Given the description of an element on the screen output the (x, y) to click on. 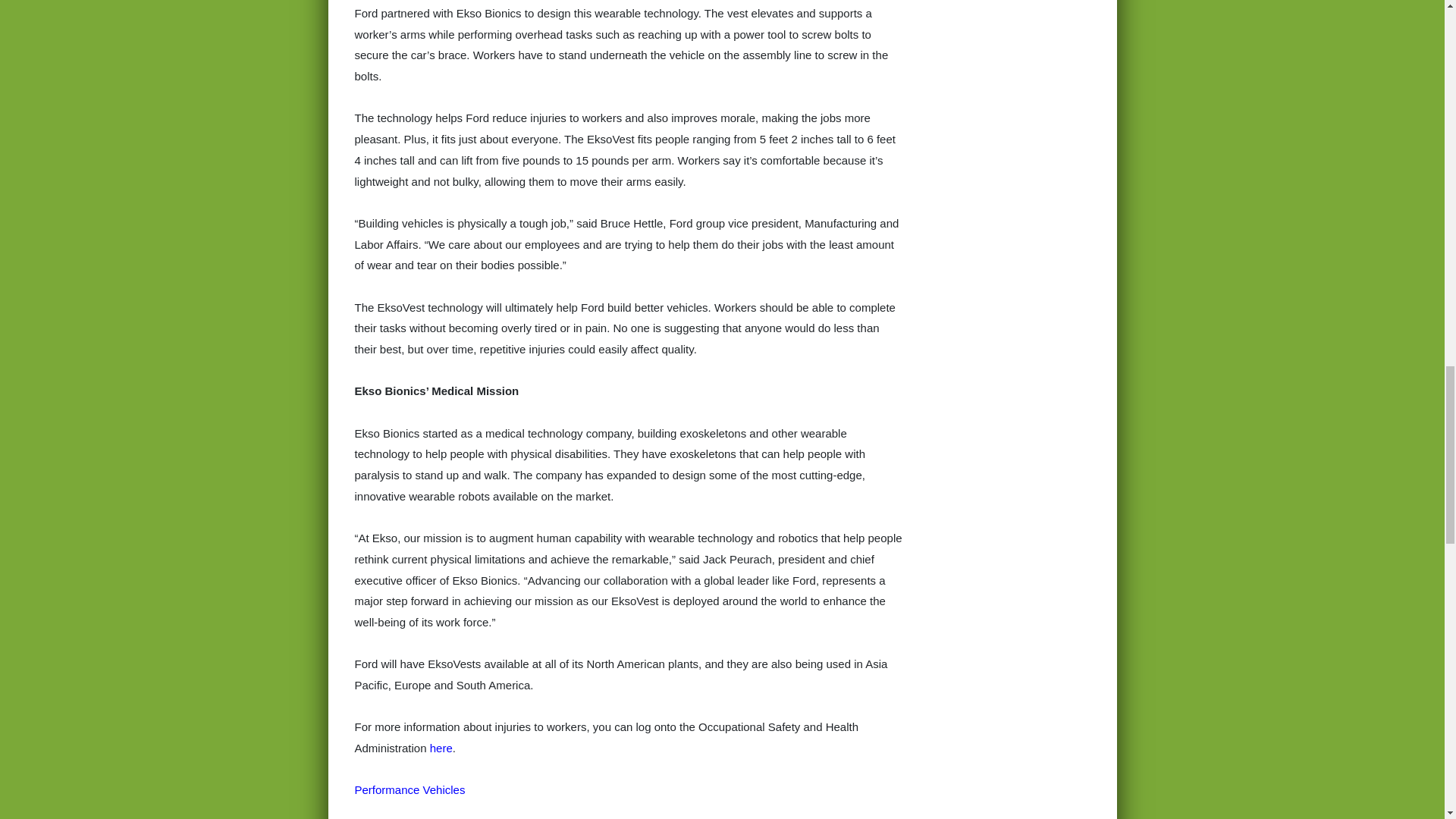
Performance Vehicles (410, 789)
here (440, 748)
